Given the description of an element on the screen output the (x, y) to click on. 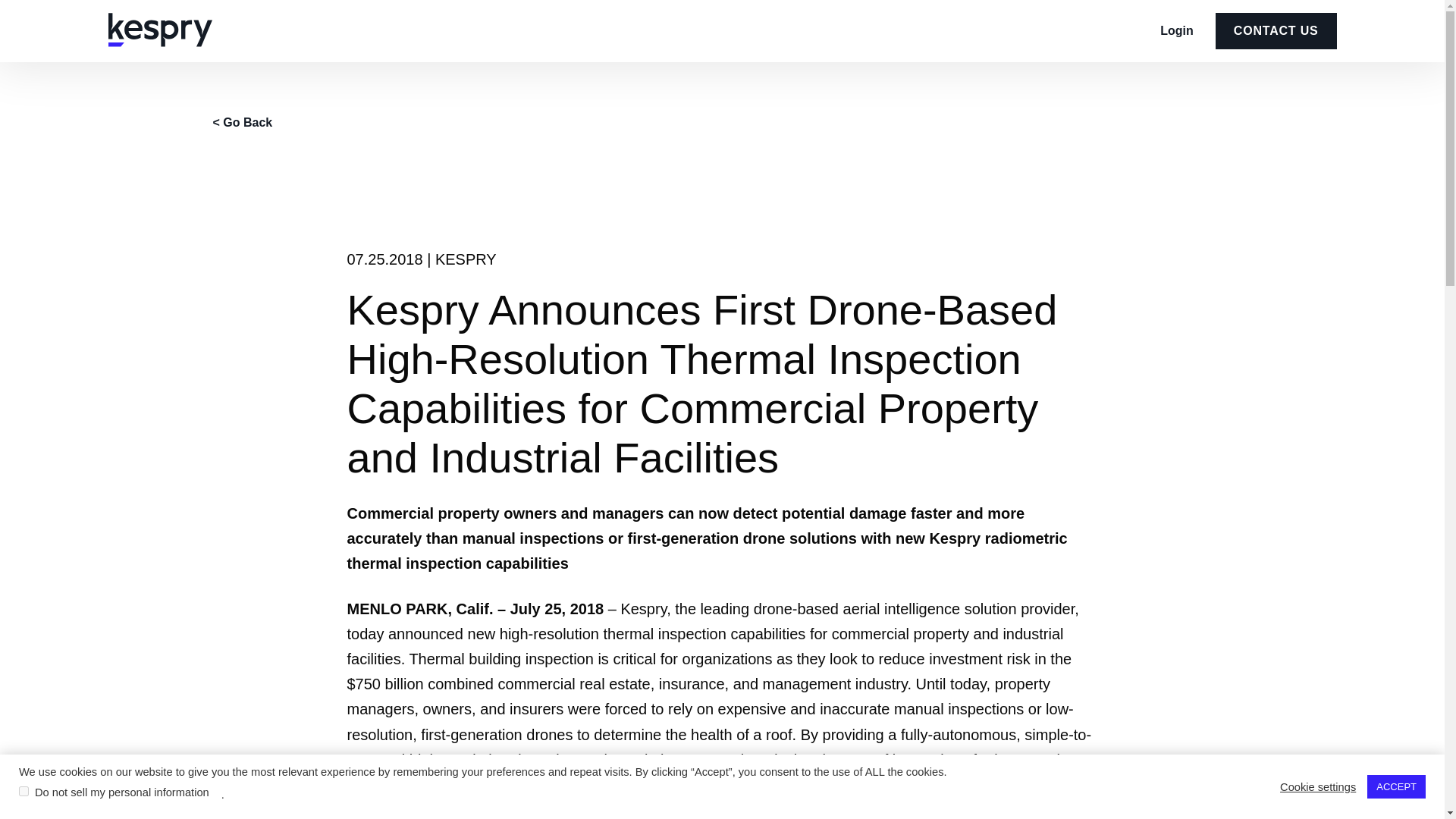
Cookie settings (1317, 786)
Login (1176, 31)
ACCEPT (1396, 786)
CONTACT US (1275, 31)
on (23, 791)
